Given the description of an element on the screen output the (x, y) to click on. 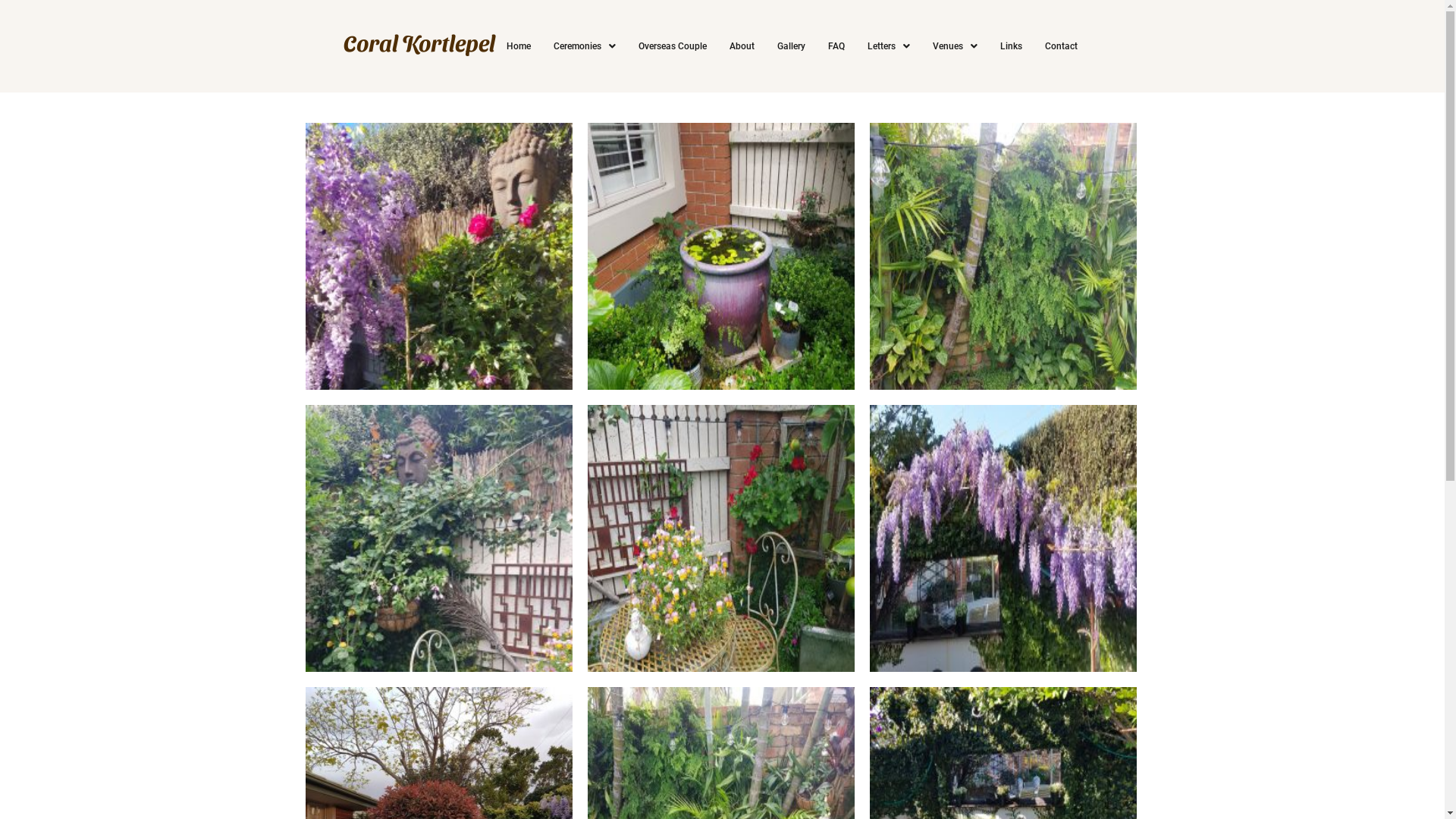
About Element type: text (741, 46)
FAQ Element type: text (835, 46)
Links Element type: text (1010, 46)
Letters Element type: text (887, 46)
Gallery Element type: text (790, 46)
Coral Kortlepel Element type: text (418, 41)
Venues Element type: text (954, 46)
Ceremonies Element type: text (583, 46)
Contact Element type: text (1060, 46)
Overseas Couple Element type: text (671, 46)
Home Element type: text (517, 46)
